Given the description of an element on the screen output the (x, y) to click on. 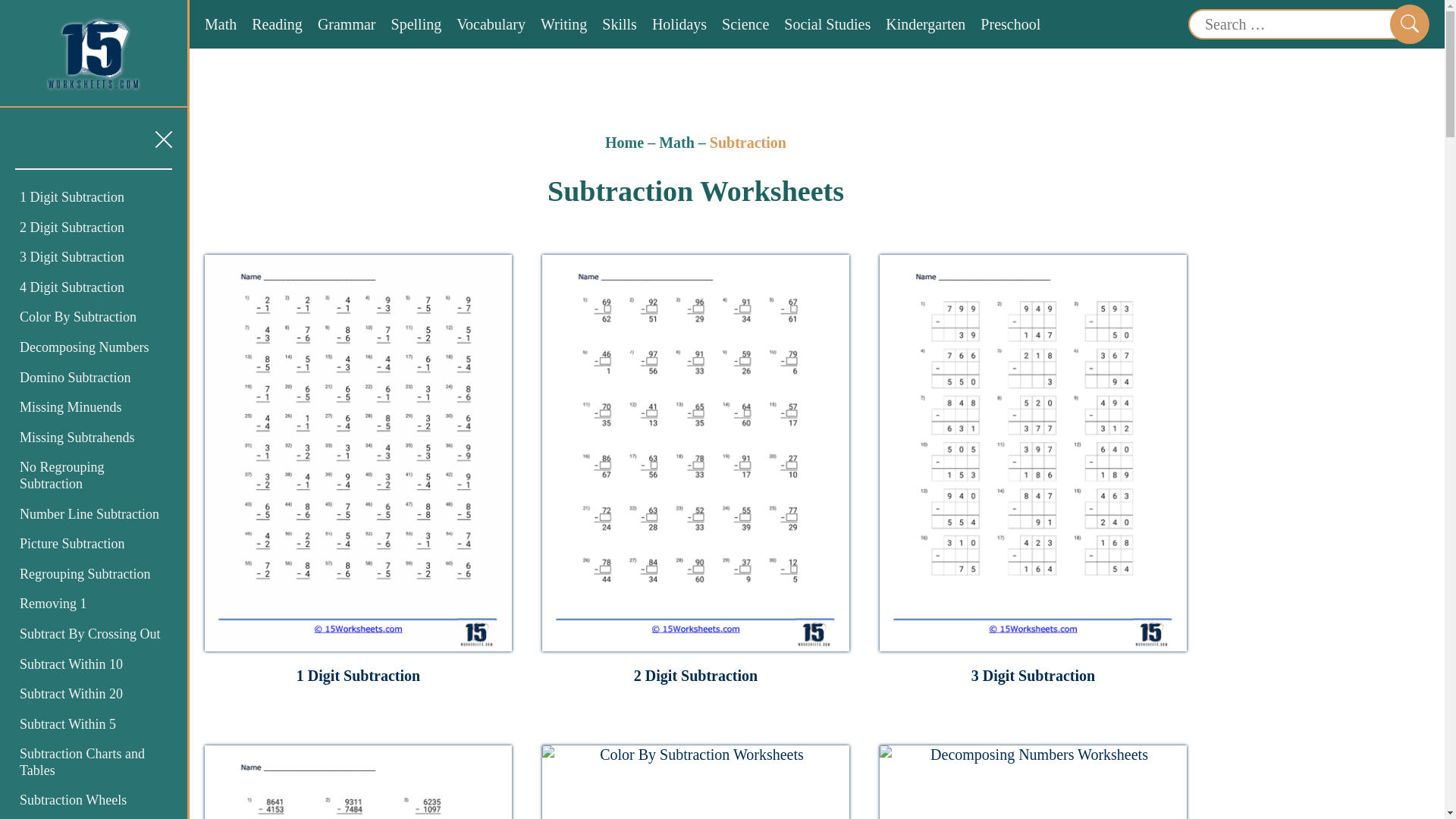
Subtract Within 20 (71, 693)
Holidays (679, 23)
Social Studies (827, 23)
Reading (276, 23)
Subtract Within 5 (68, 724)
Writing (563, 23)
Color By Subtraction (78, 316)
Science (745, 23)
Home (624, 142)
Subtraction Wheels (73, 799)
1 Digit Subtraction (71, 196)
Picture Subtraction (71, 543)
Vocabulary (491, 23)
Removing 1 (53, 603)
Missing Subtrahends (77, 437)
